Given the description of an element on the screen output the (x, y) to click on. 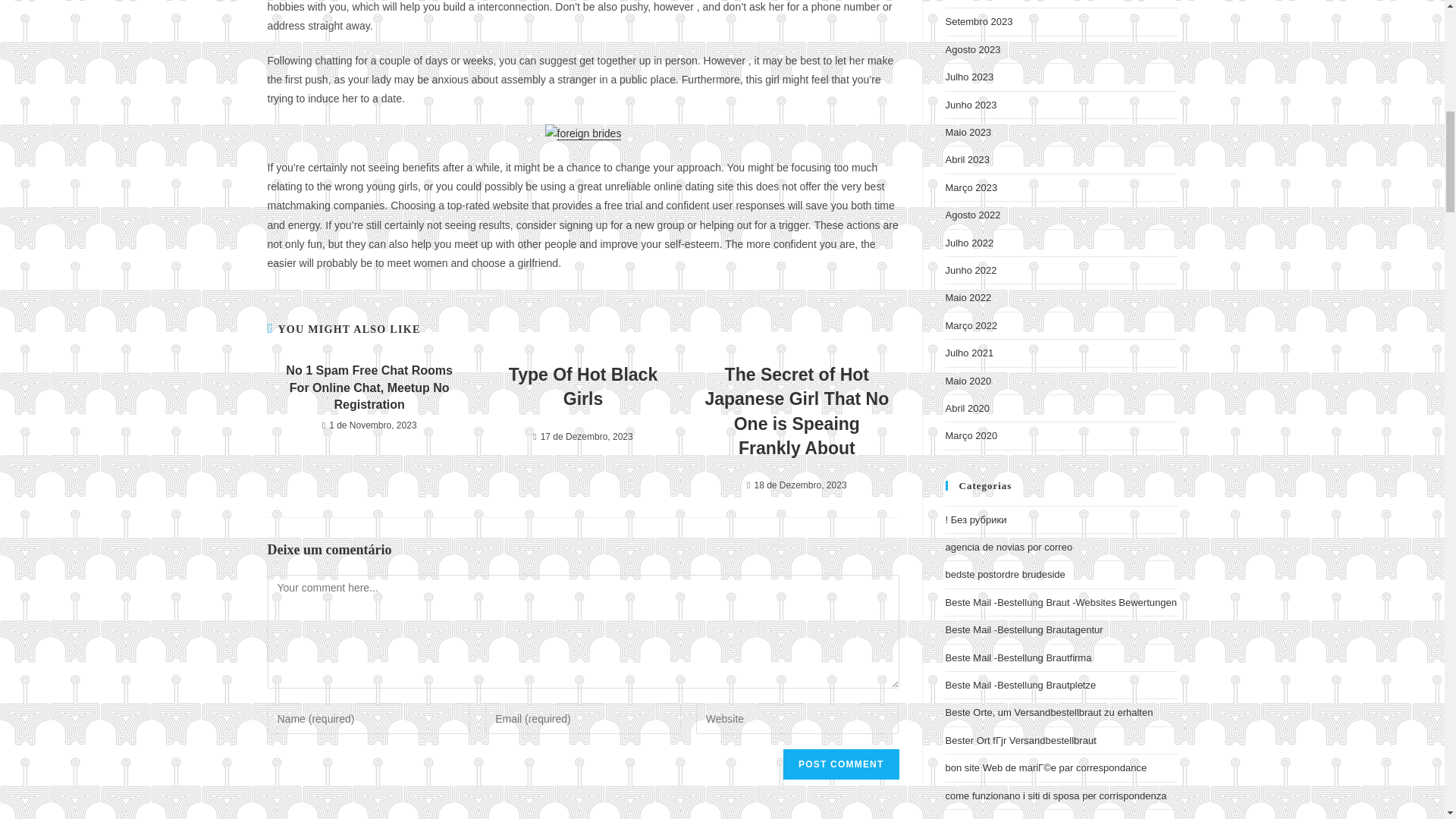
Post Comment (840, 764)
